Given the description of an element on the screen output the (x, y) to click on. 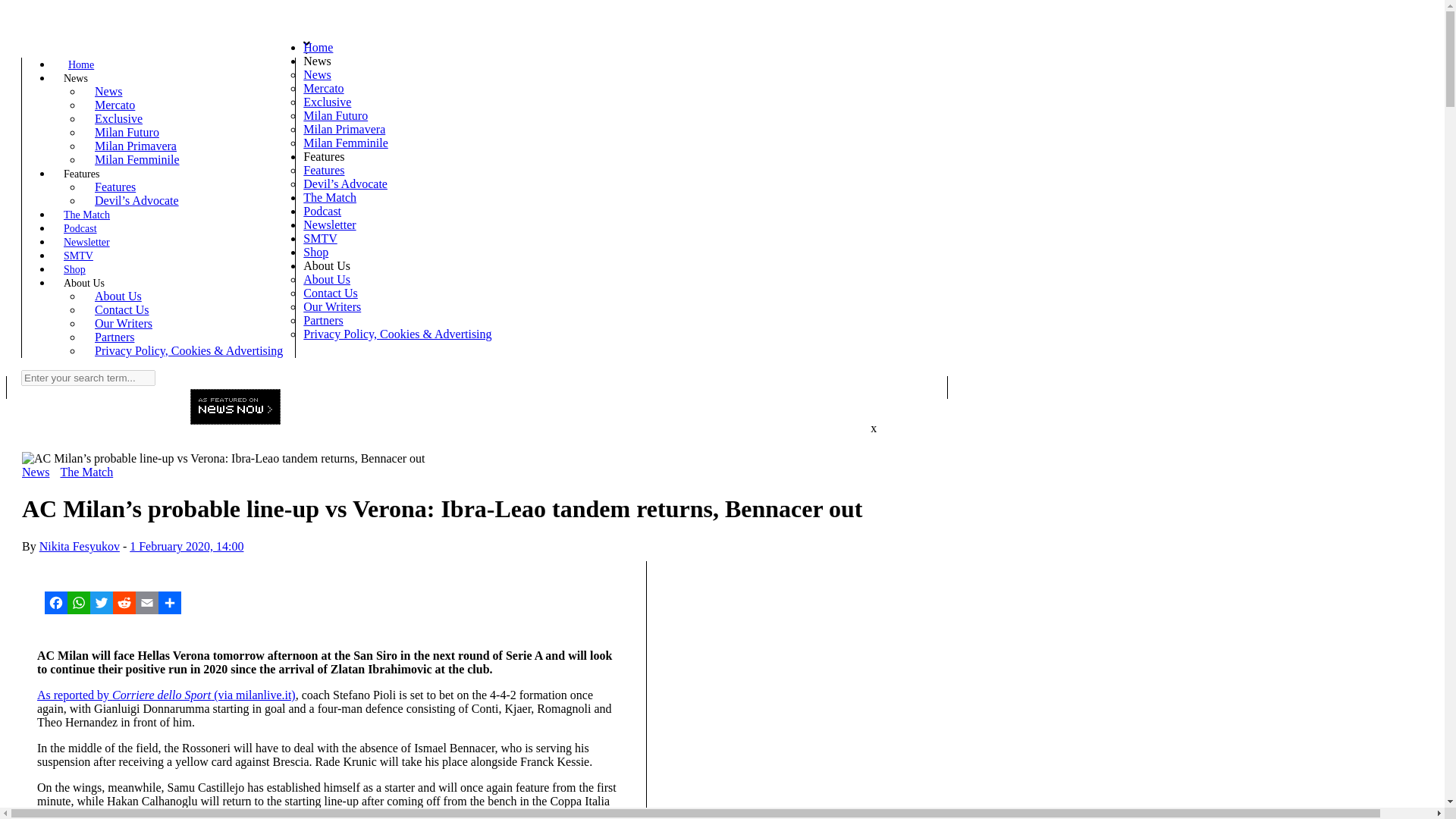
Milan Femminile (137, 159)
About Us (84, 283)
Milan Primavera (343, 128)
Facebook (55, 602)
WhatsApp (78, 602)
Reddit (124, 602)
Latest The Match News (86, 472)
Twitter (101, 602)
Features (81, 173)
Mercato (114, 104)
News (107, 91)
Exclusive (118, 118)
Search (27, 39)
SMTV (78, 255)
Milan Femminile (345, 142)
